Given the description of an element on the screen output the (x, y) to click on. 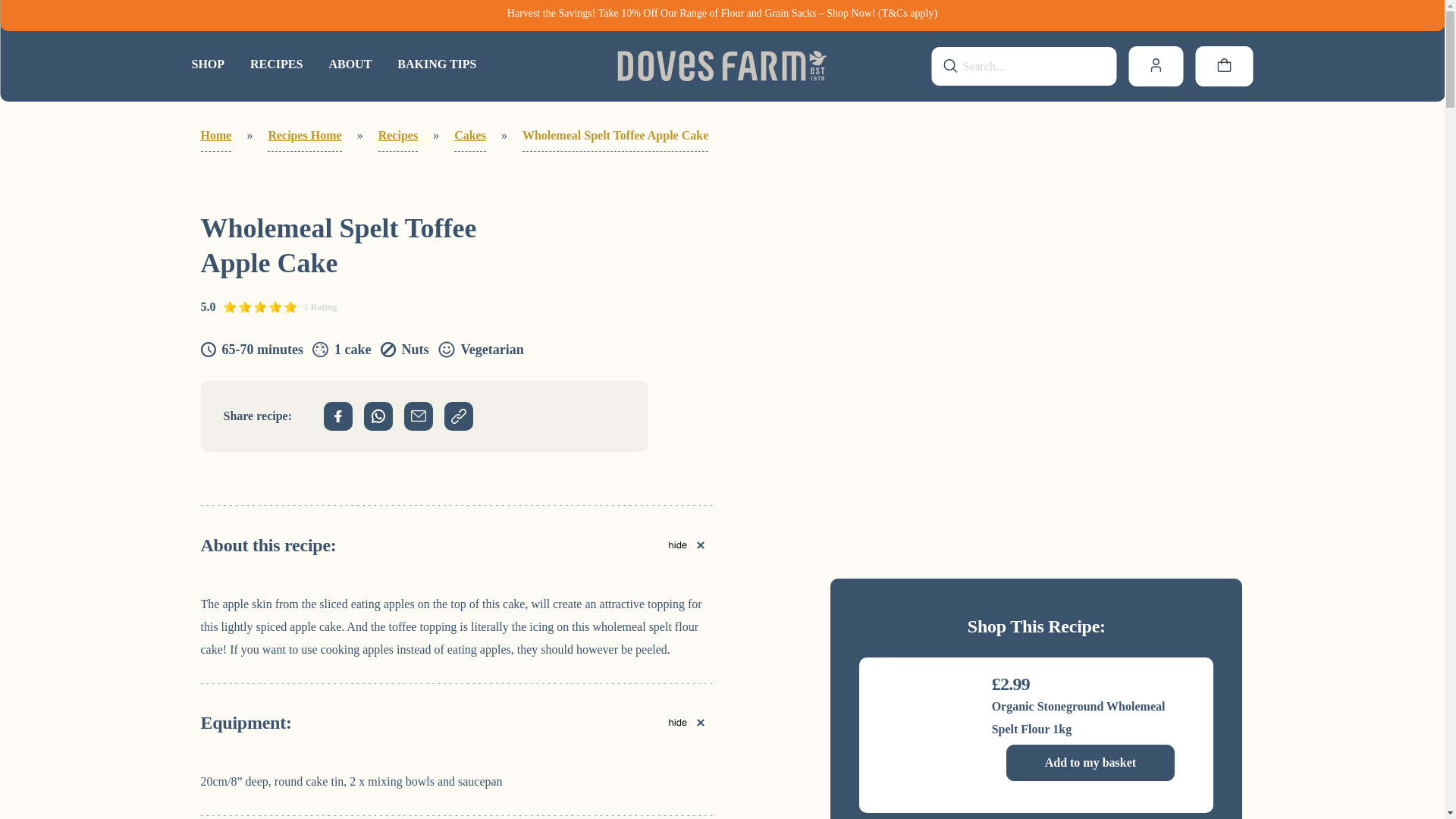
SHOP (207, 63)
Doves Farm (721, 65)
RECIPES (276, 63)
ABOUT (350, 63)
Login and view your user account (1155, 65)
